Given the description of an element on the screen output the (x, y) to click on. 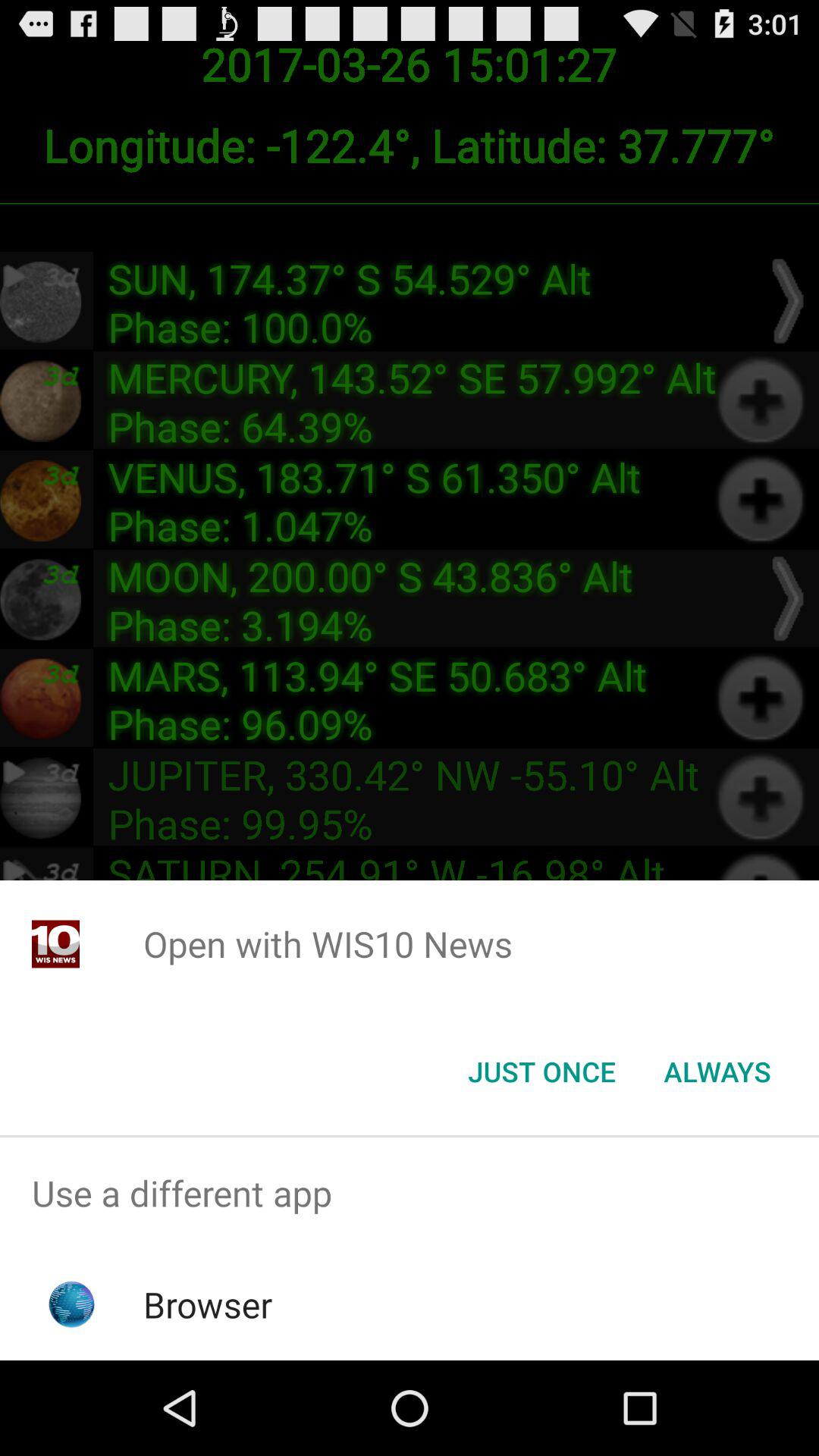
flip to browser icon (207, 1304)
